Given the description of an element on the screen output the (x, y) to click on. 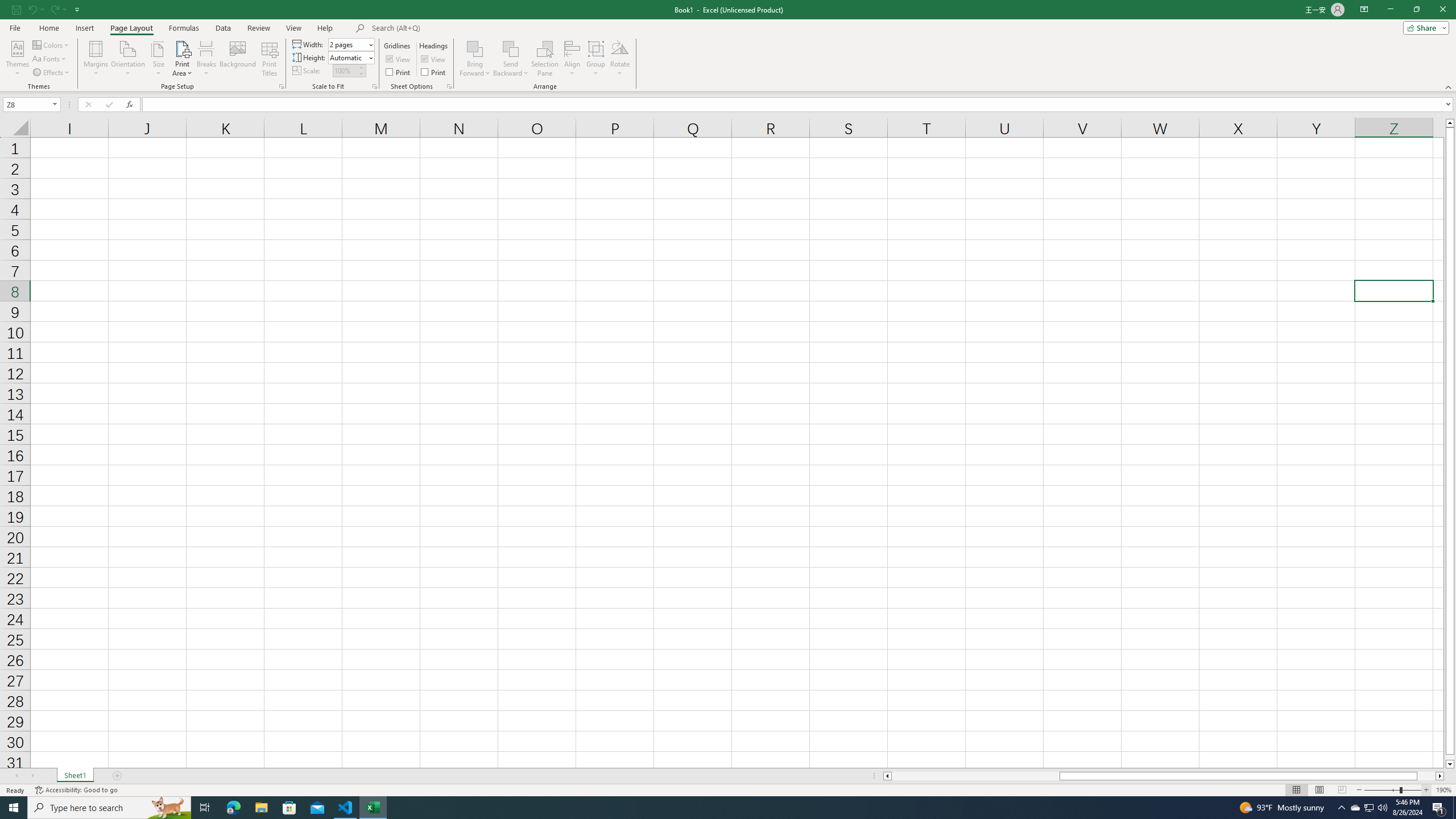
Bring Forward (475, 58)
Page down (1449, 757)
Themes (17, 58)
Accessibility Checker Accessibility: Good to go (76, 790)
Page Layout (131, 28)
Review (258, 28)
Scroll Right (32, 775)
System (6, 6)
Microsoft search (450, 28)
Undo (35, 9)
Column right (1440, 775)
Help (325, 28)
Print Area (182, 58)
